Given the description of an element on the screen output the (x, y) to click on. 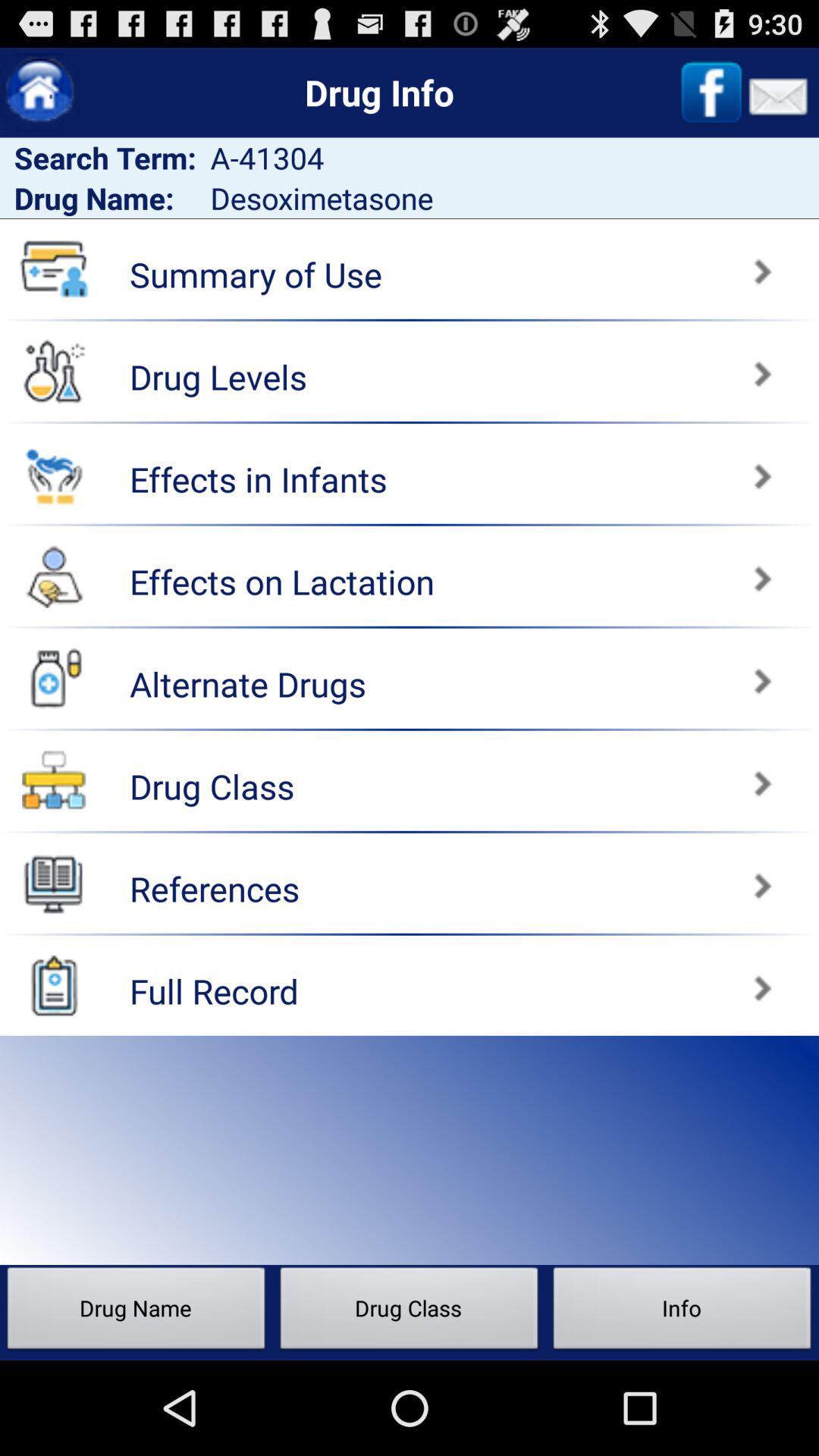
menu (39, 92)
